Given the description of an element on the screen output the (x, y) to click on. 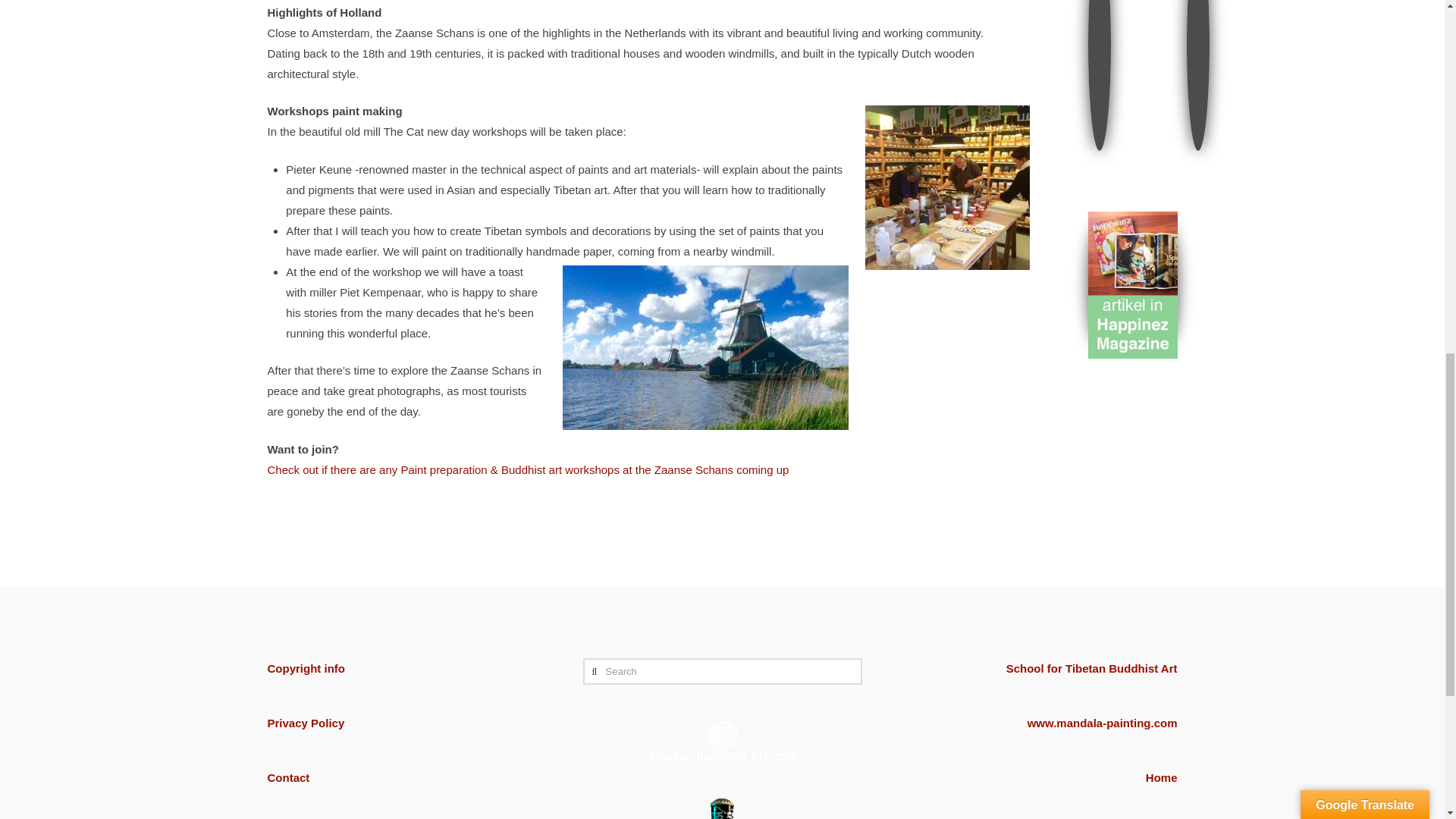
copyright drawings and paintings of Carmen Mensink (304, 667)
Privacy Policy of Carmen Mensink (304, 722)
Join the School for Tibetan Buddhist Art (1091, 667)
meaning of mandala and how to paint mandalas (1102, 722)
